Given the description of an element on the screen output the (x, y) to click on. 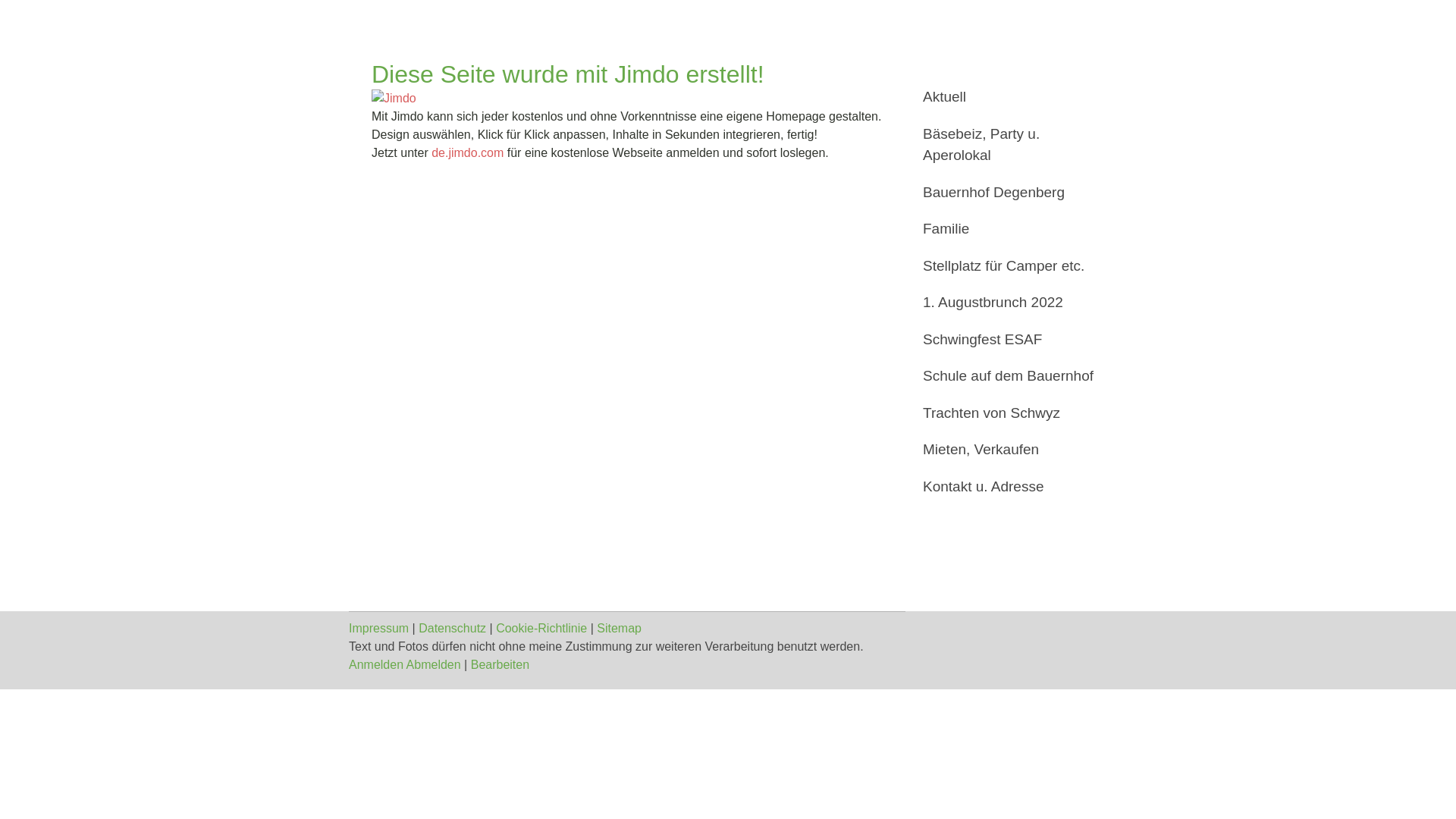
Schule auf dem Bauernhof Element type: text (1008, 376)
Kontakt u. Adresse Element type: text (1008, 486)
Familie Element type: text (1008, 228)
Jimdo Element type: hover (393, 98)
Abmelden Element type: text (435, 664)
Cookie-Richtlinie Element type: text (540, 627)
1. Augustbrunch 2022 Element type: text (1008, 302)
Mieten, Verkaufen Element type: text (1008, 449)
Bauernhof Degenberg Element type: text (1008, 192)
Anmelden Element type: text (375, 664)
Trachten von Schwyz Element type: text (1008, 412)
Datenschutz Element type: text (452, 627)
de.jimdo.com Element type: text (467, 152)
Impressum Element type: text (378, 627)
Schwingfest ESAF Element type: text (1008, 339)
Sitemap Element type: text (618, 627)
Aktuell Element type: text (1008, 97)
Bearbeiten Element type: text (499, 664)
